Given the description of an element on the screen output the (x, y) to click on. 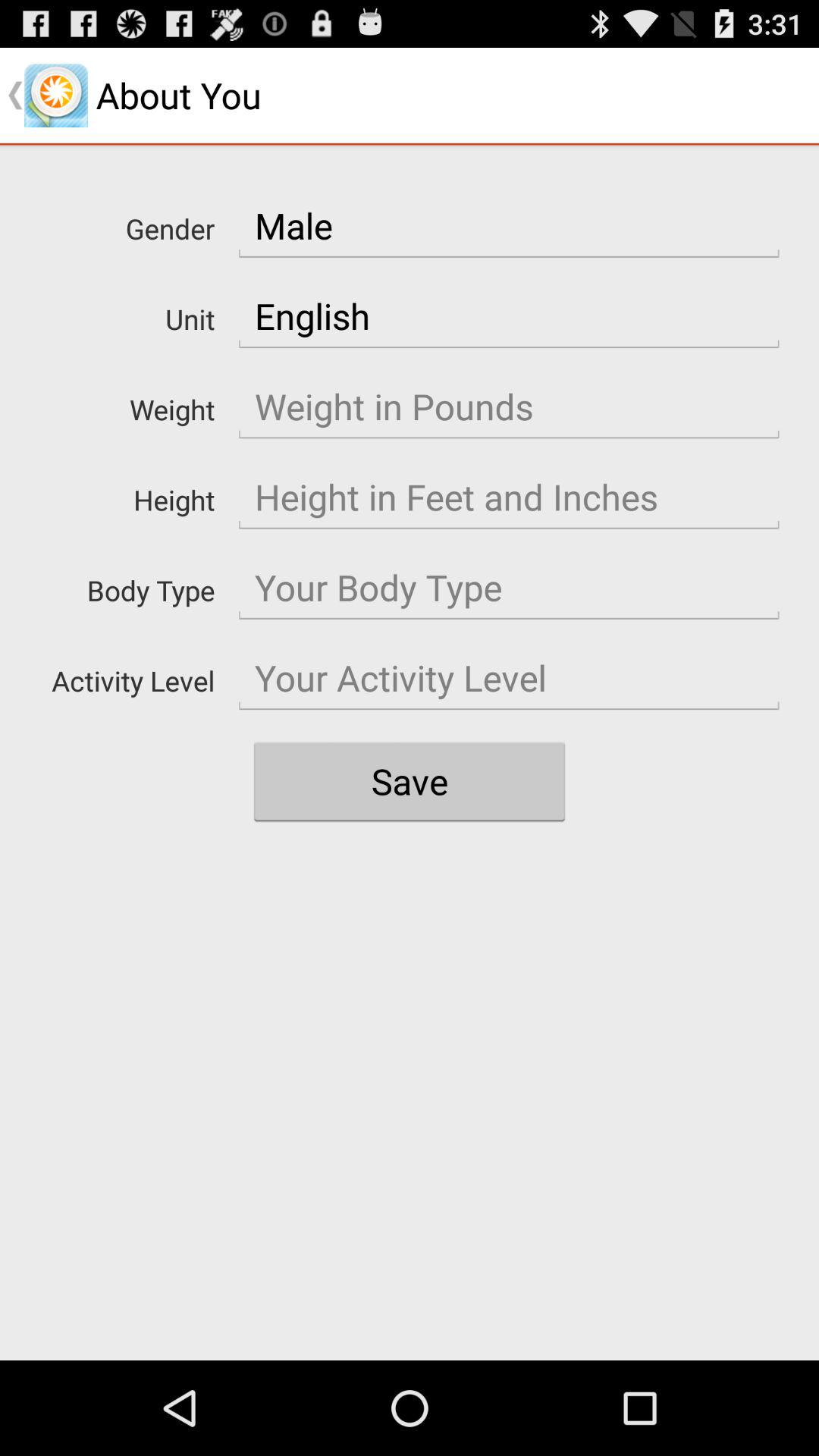
level (508, 678)
